Given the description of an element on the screen output the (x, y) to click on. 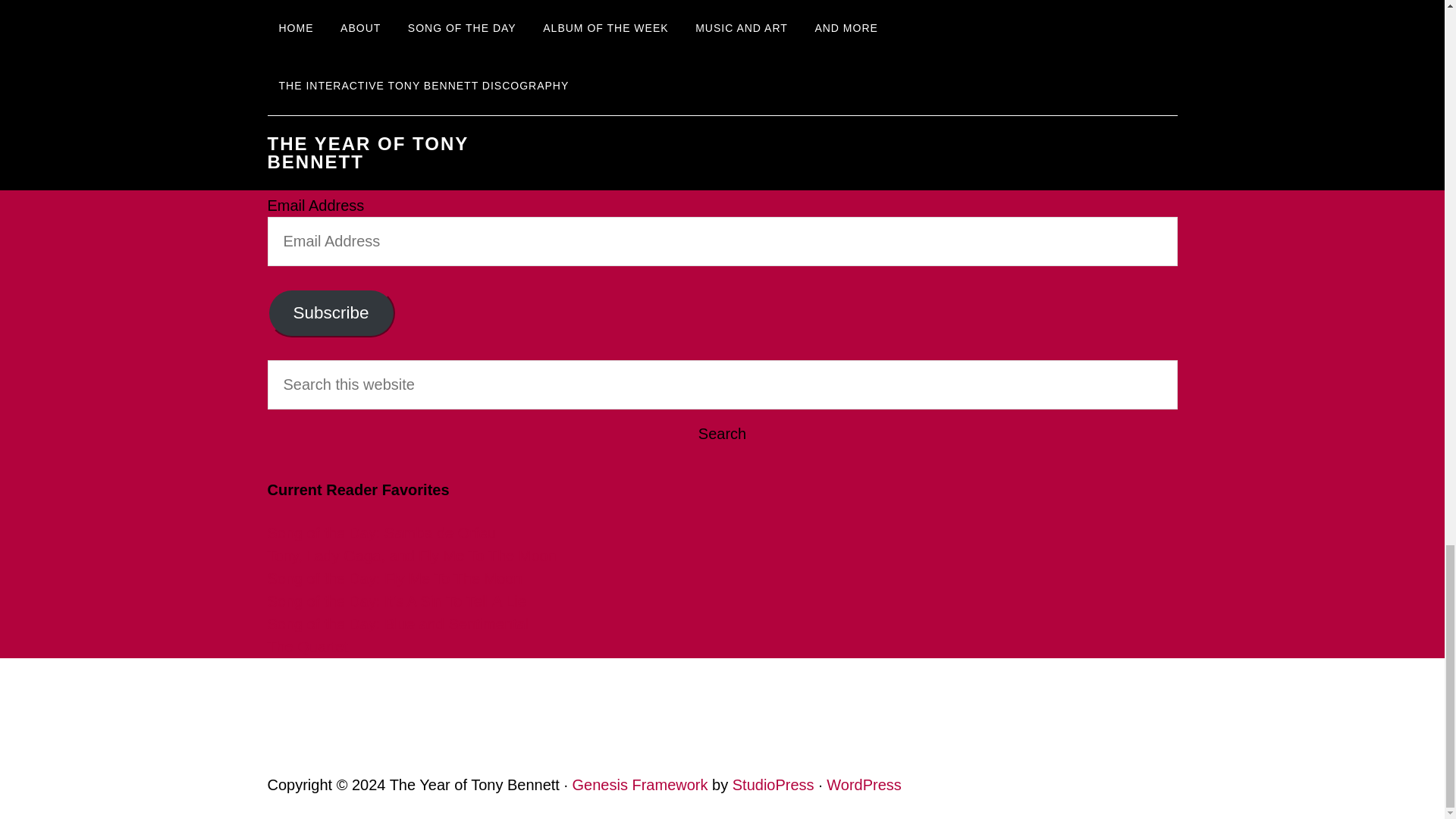
Search (721, 433)
Comment Form (722, 20)
Search (721, 433)
